Given the description of an element on the screen output the (x, y) to click on. 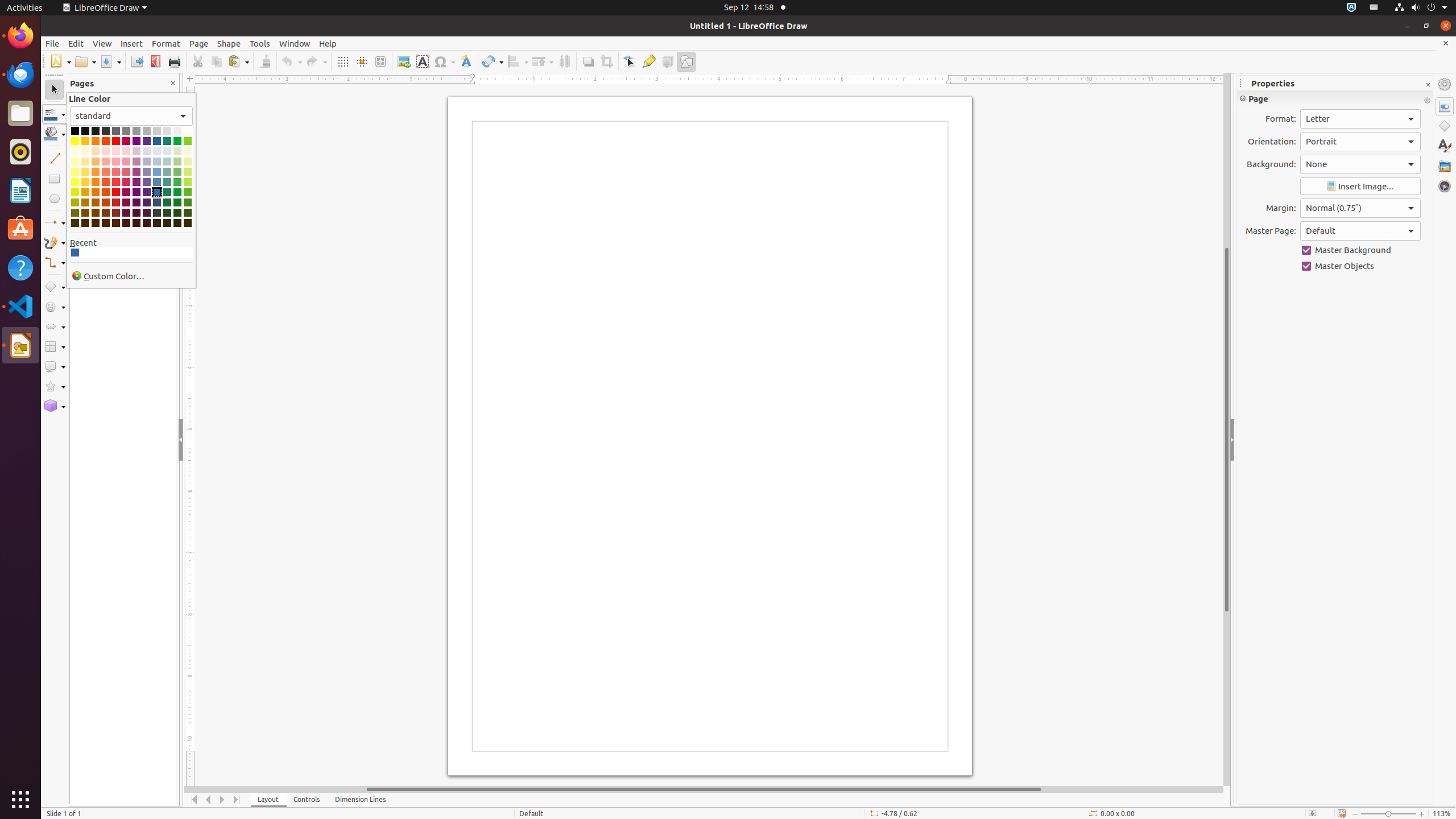
Dark Magenta 4 Element type: list-item (126, 222)
Dark Orange 4 Element type: list-item (95, 222)
Light Orange 1 Element type: list-item (95, 181)
Dark Magenta 2 Element type: list-item (126, 202)
Callout Shapes Element type: push-button (54, 366)
